Given the description of an element on the screen output the (x, y) to click on. 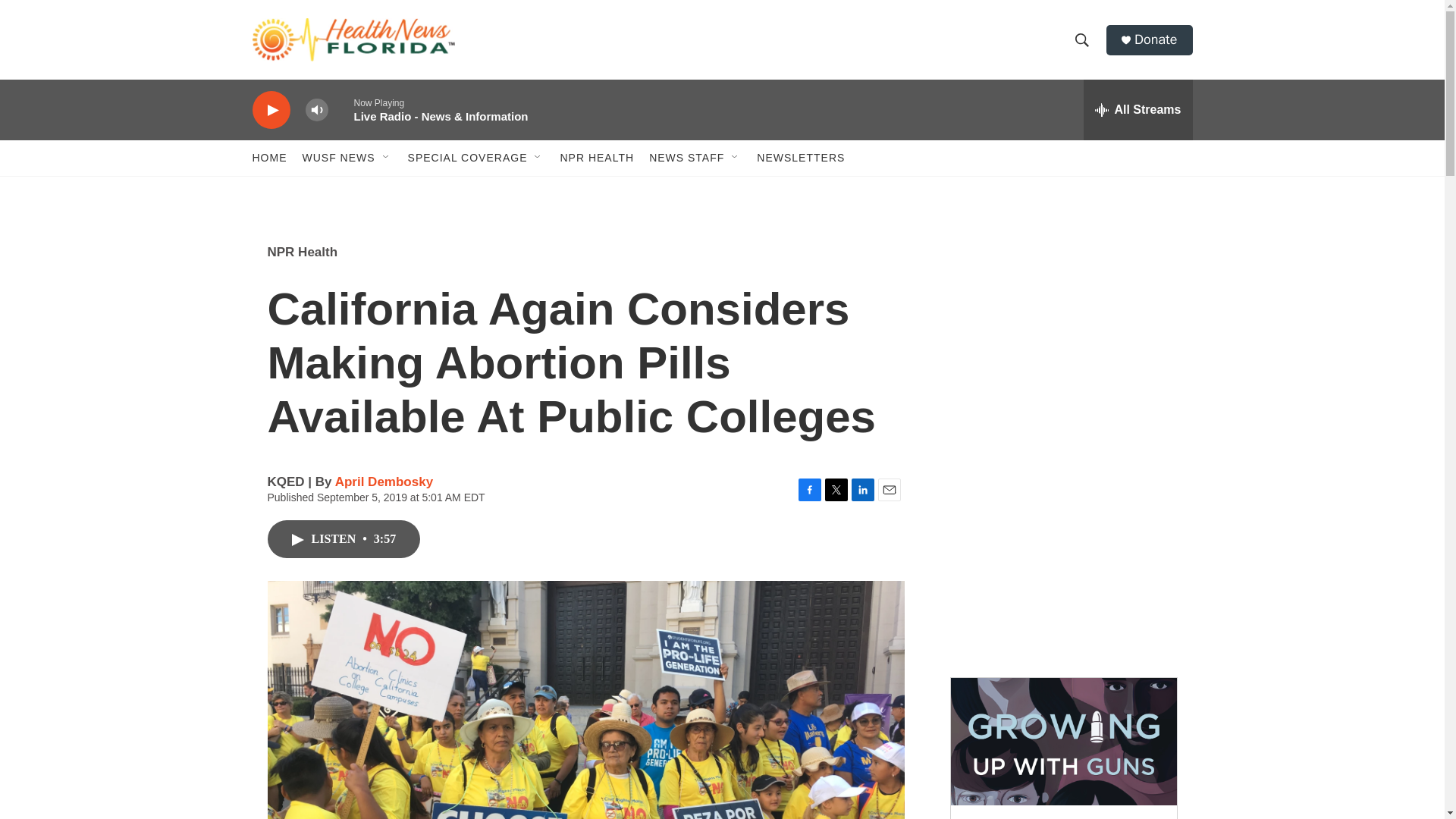
3rd party ad content (1062, 552)
3rd party ad content (1062, 331)
